Given the description of an element on the screen output the (x, y) to click on. 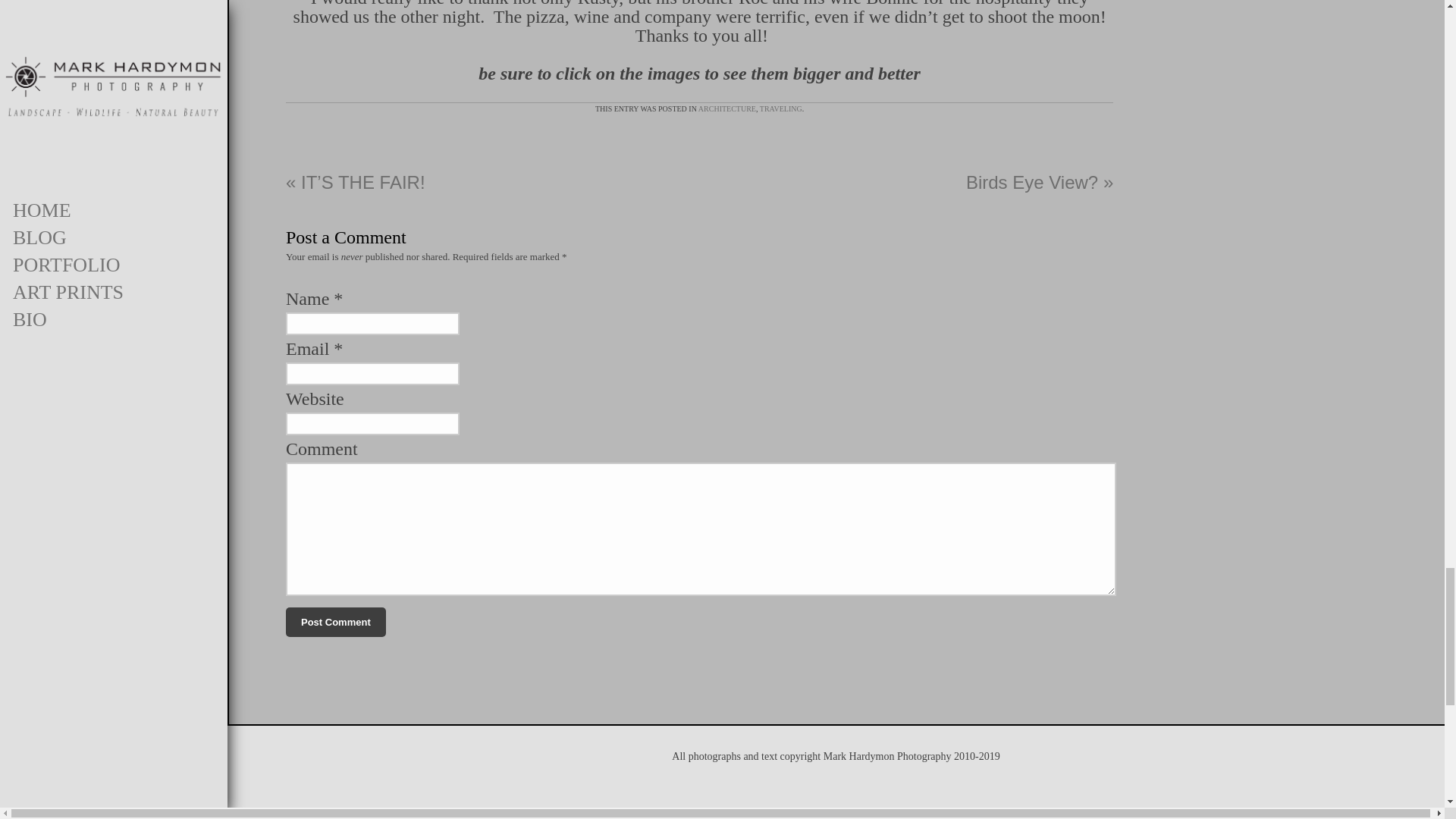
TRAVELING (781, 108)
ARCHITECTURE (726, 108)
Post Comment (335, 622)
Post Comment (335, 622)
